Given the description of an element on the screen output the (x, y) to click on. 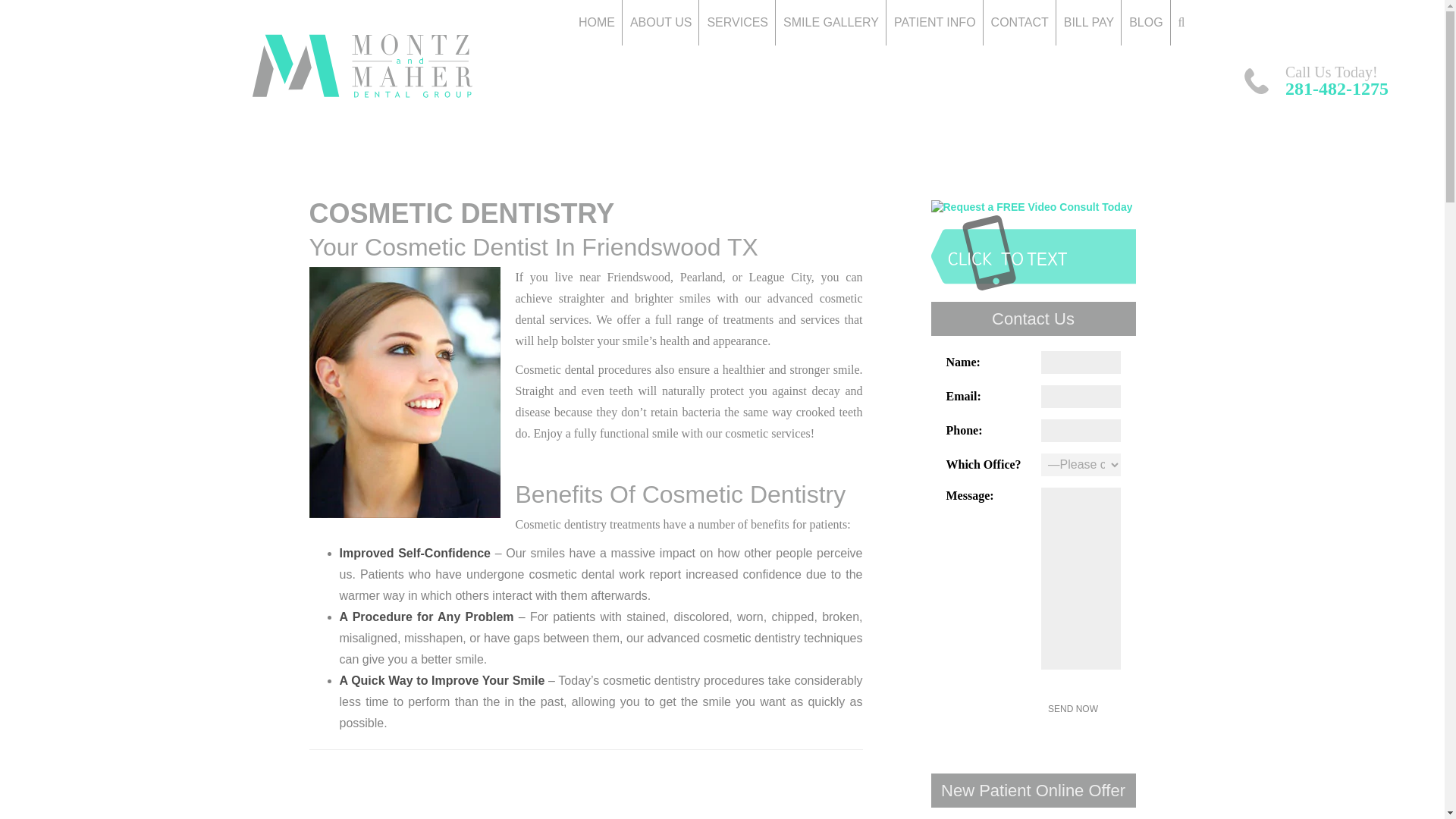
Send Now (1072, 708)
SERVICES (737, 22)
ABOUT US (661, 22)
HOME (596, 22)
